Given the description of an element on the screen output the (x, y) to click on. 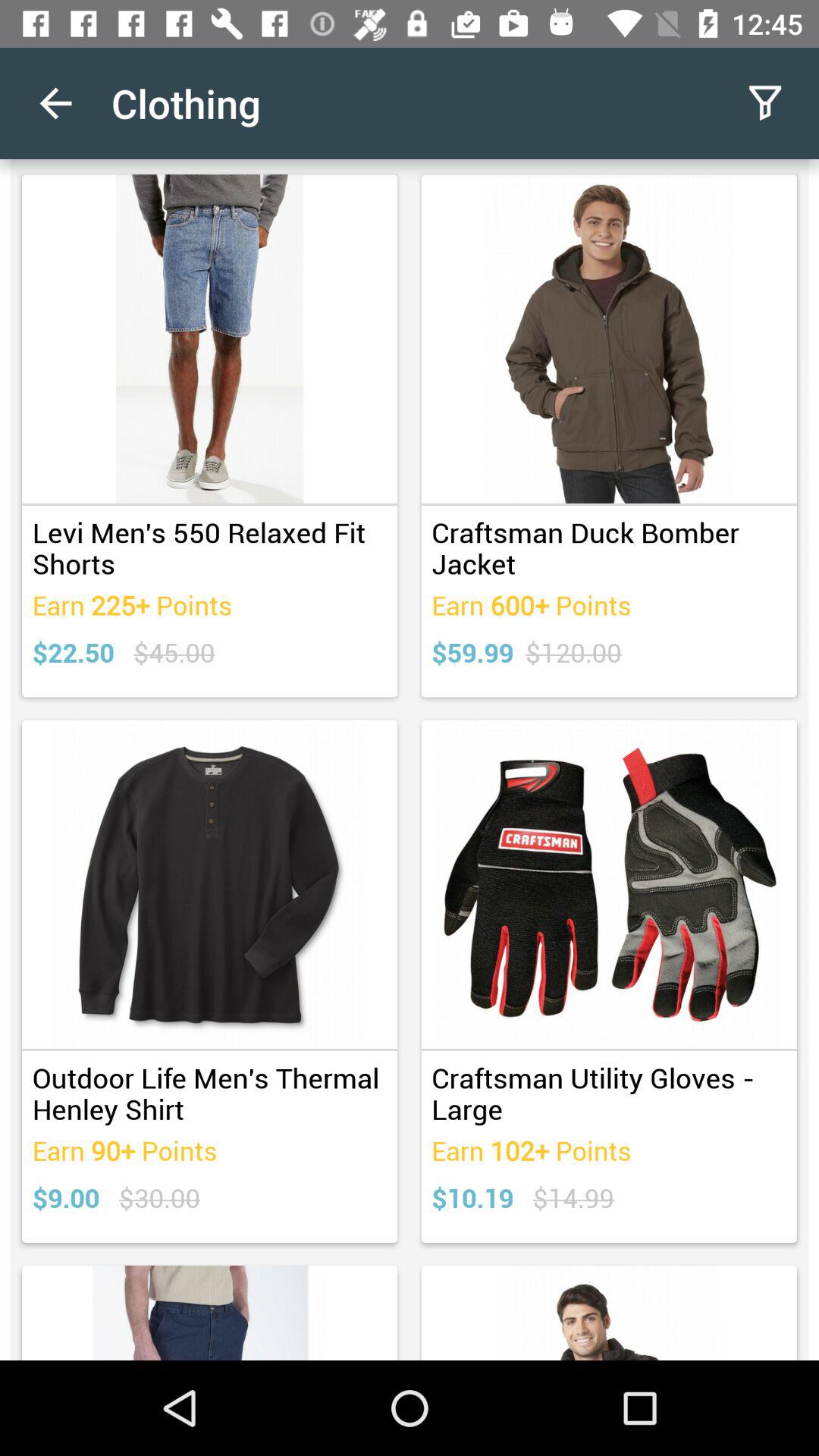
advertisement (409, 759)
